Given the description of an element on the screen output the (x, y) to click on. 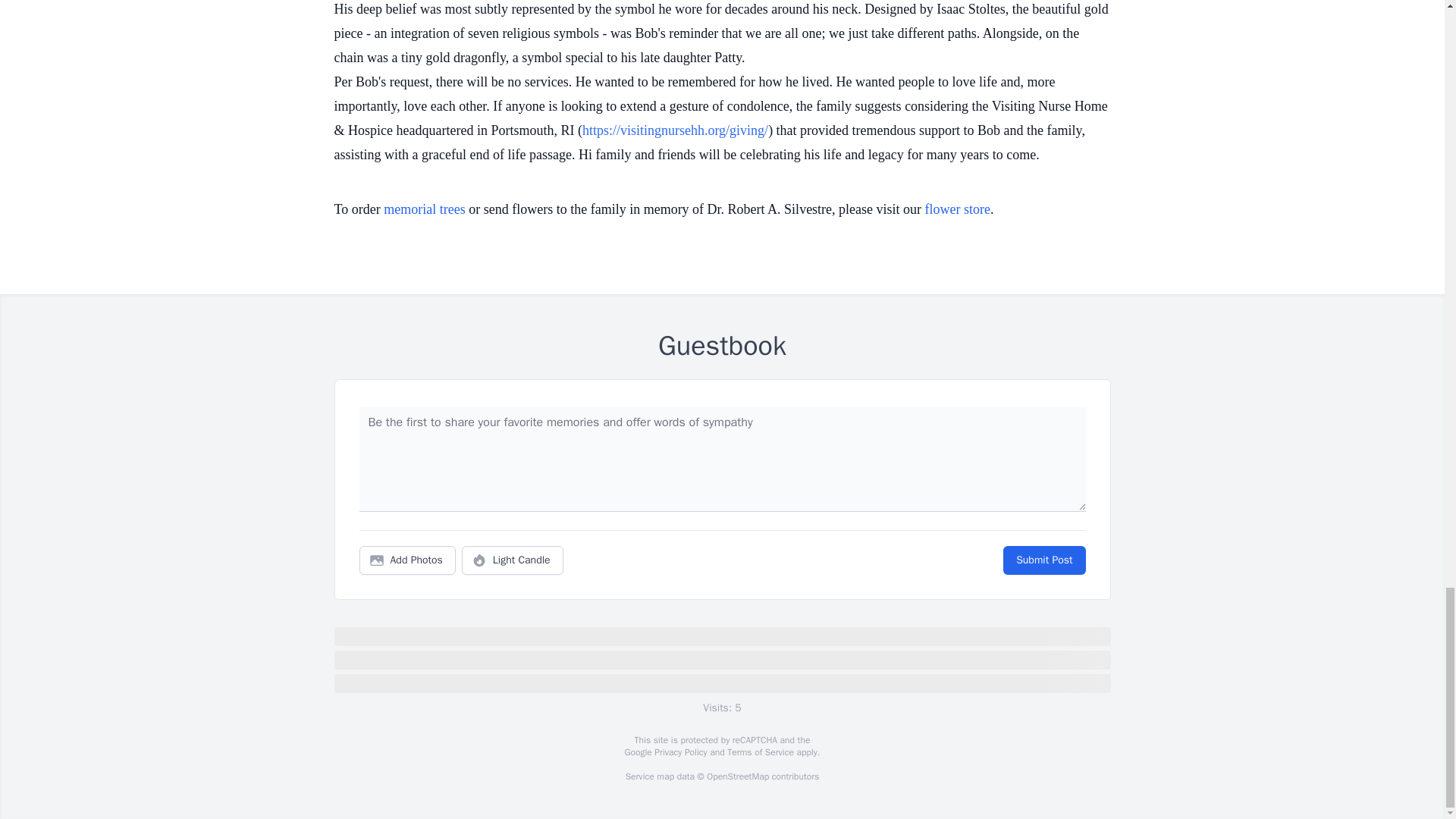
OpenStreetMap (737, 776)
Submit Post (1043, 560)
Light Candle (512, 560)
Add Photos (407, 560)
memorial trees (424, 209)
Terms of Service (759, 752)
flower store (957, 209)
Privacy Policy (679, 752)
